Given the description of an element on the screen output the (x, y) to click on. 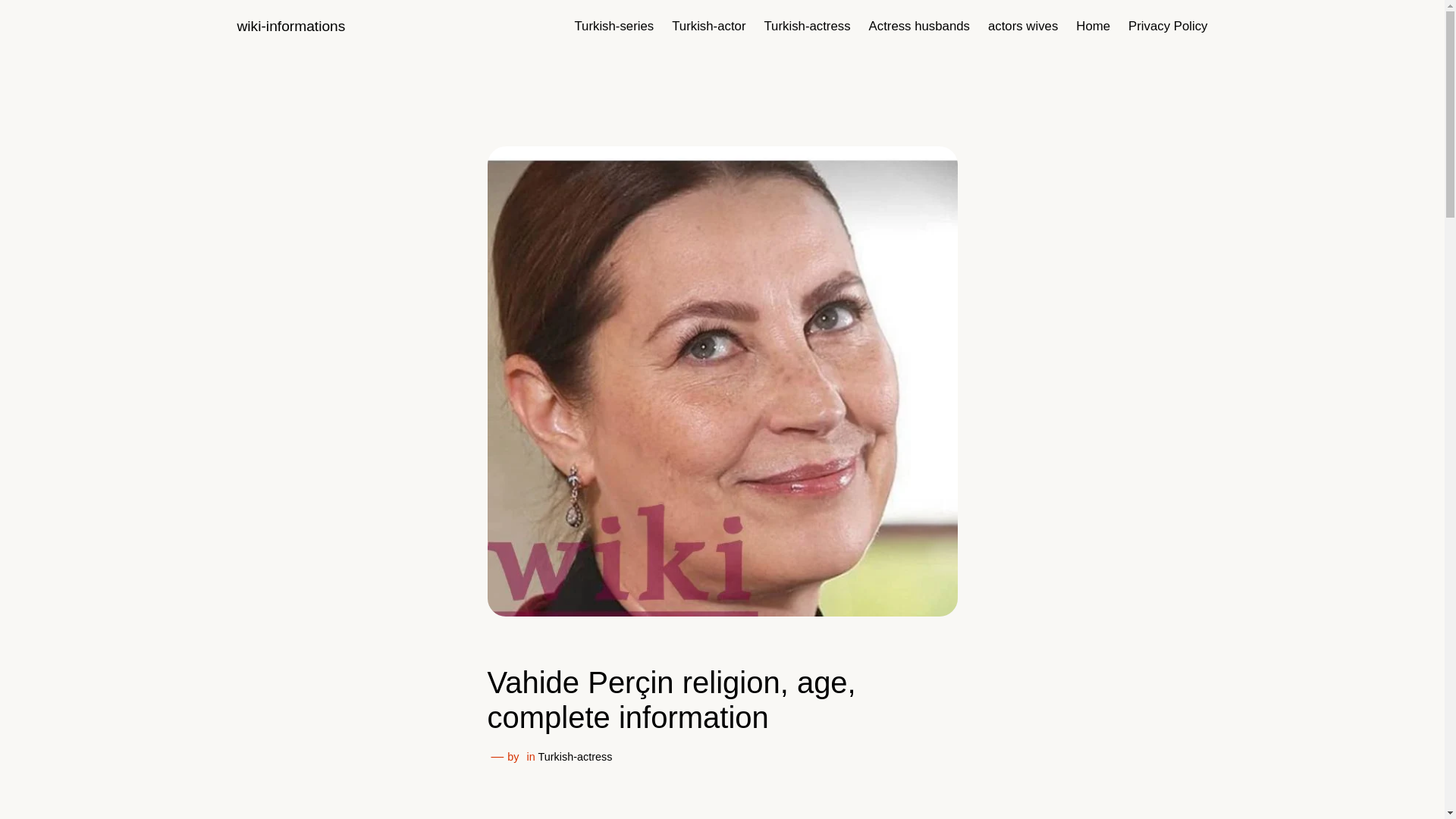
wiki-informations (290, 26)
Privacy Policy (1167, 26)
Home (1092, 26)
actors wives (1023, 26)
Actress husbands (919, 26)
Turkish-series (613, 26)
Turkish-actress (575, 756)
Turkish-actress (806, 26)
Turkish-actor (708, 26)
